Given the description of an element on the screen output the (x, y) to click on. 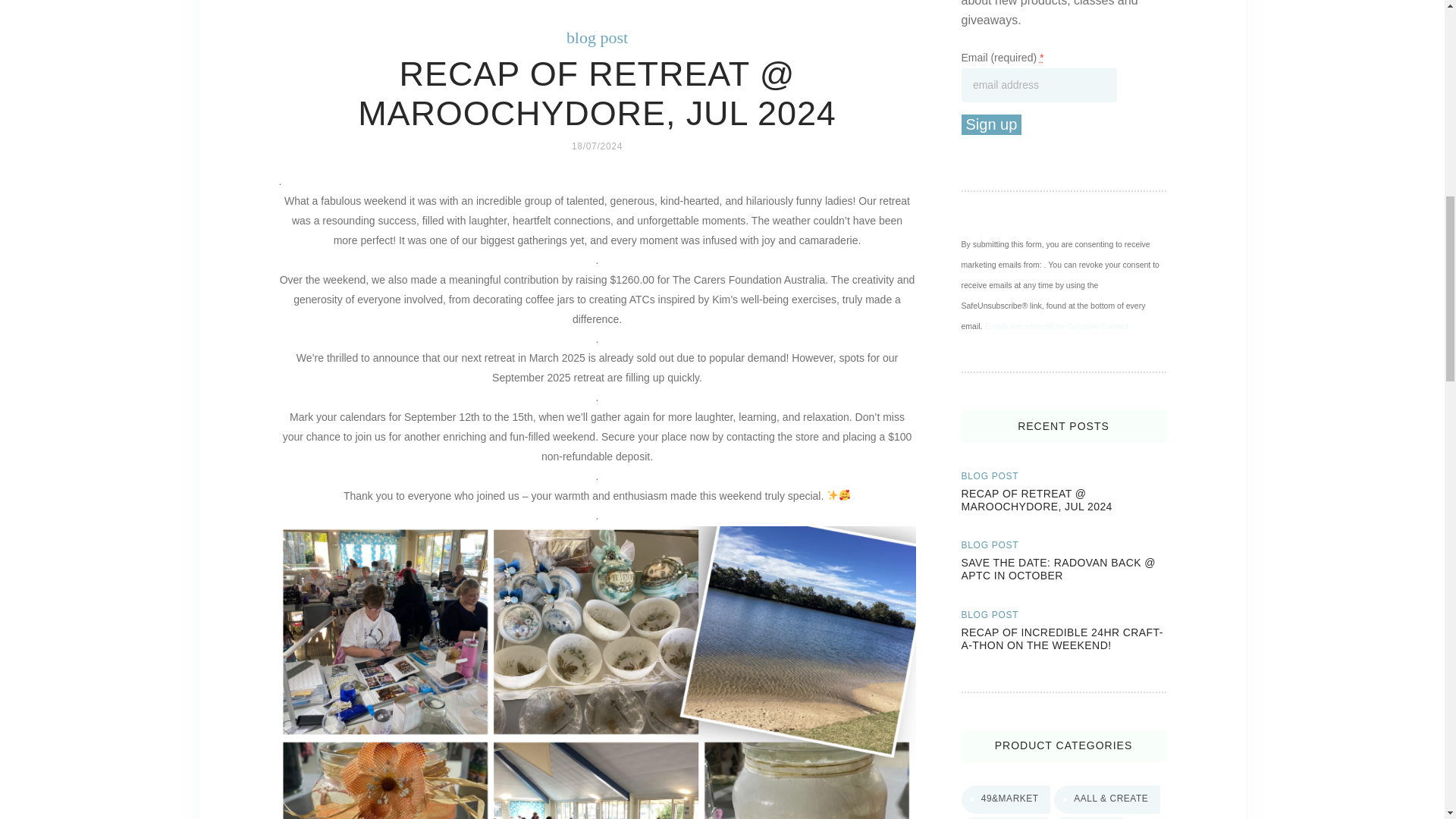
Sign up (991, 124)
required (1041, 57)
View all posts in Blog Post (989, 614)
View all posts in Blog Post (989, 475)
View all posts in Blog Post (989, 544)
